Given the description of an element on the screen output the (x, y) to click on. 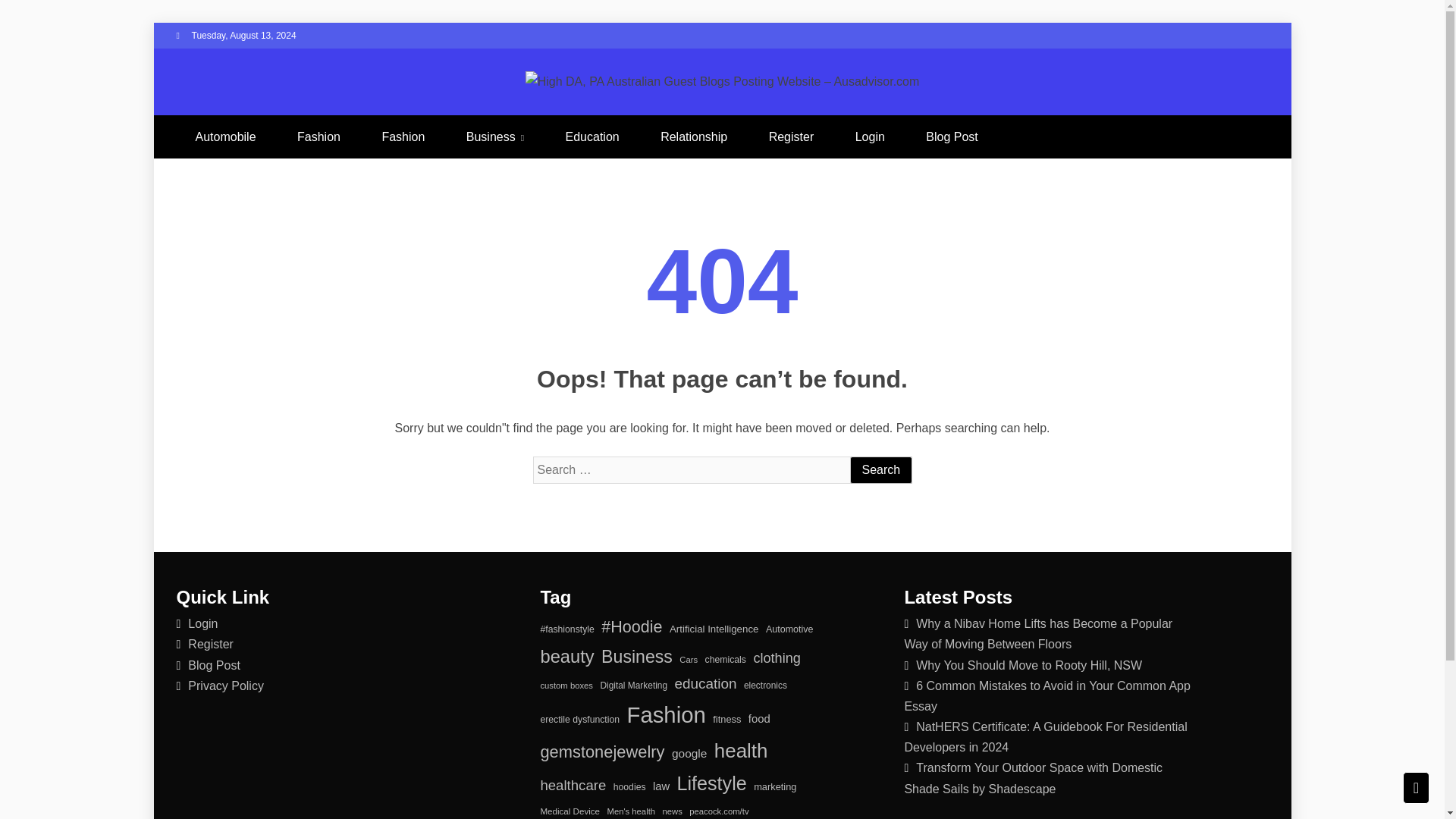
fitness (727, 719)
Digital Marketing (632, 685)
Login (201, 623)
google (688, 753)
Blog Post (213, 665)
chemicals (724, 659)
education (705, 683)
custom boxes (566, 685)
Search (879, 470)
health (741, 750)
